Given the description of an element on the screen output the (x, y) to click on. 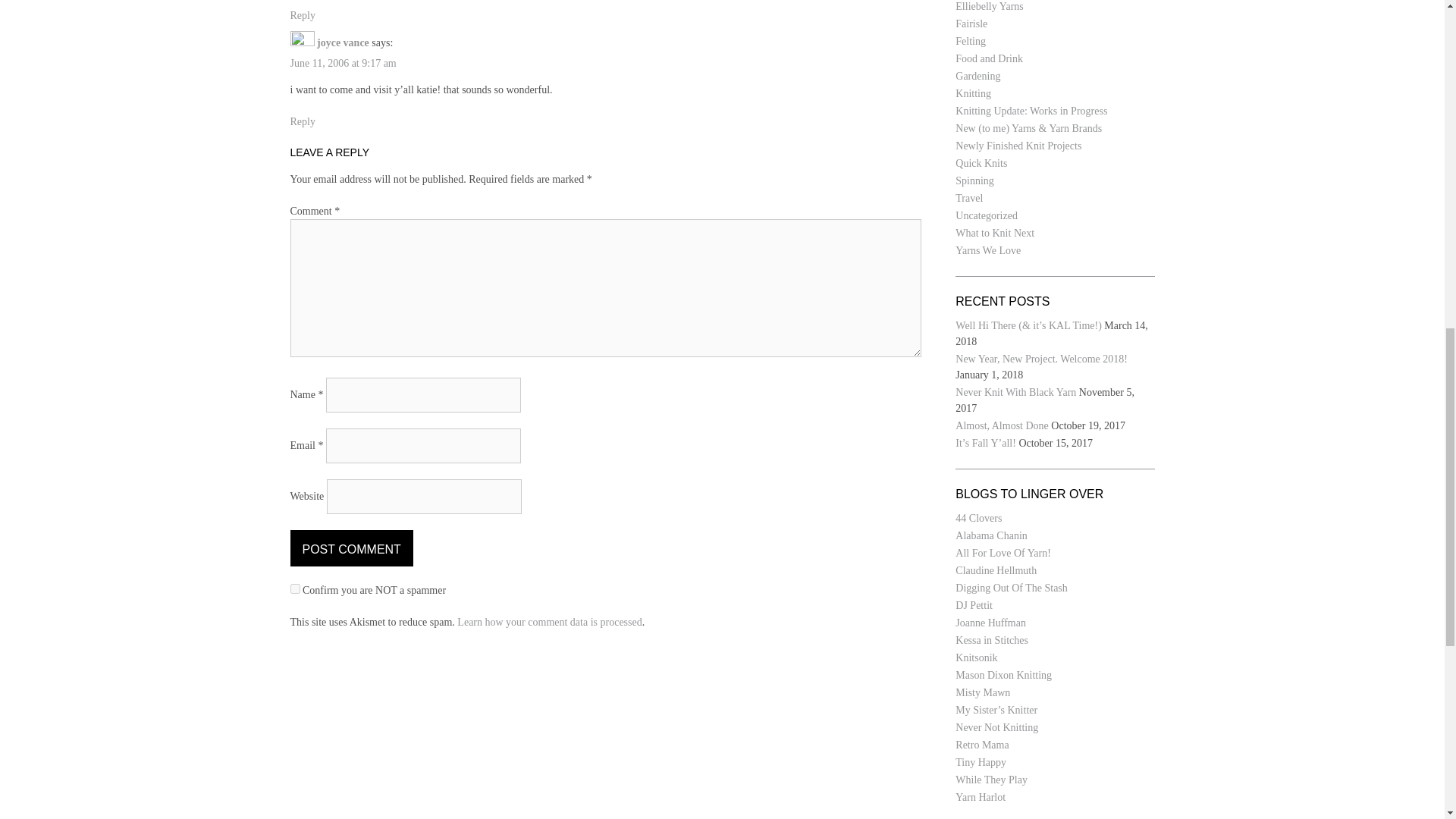
joyce vance (343, 42)
Learn how your comment data is processed (549, 622)
Post Comment (350, 547)
Reply (301, 15)
on (294, 588)
Post Comment (350, 547)
Reply (301, 121)
June 11, 2006 at 9:17 am (342, 62)
